Given the description of an element on the screen output the (x, y) to click on. 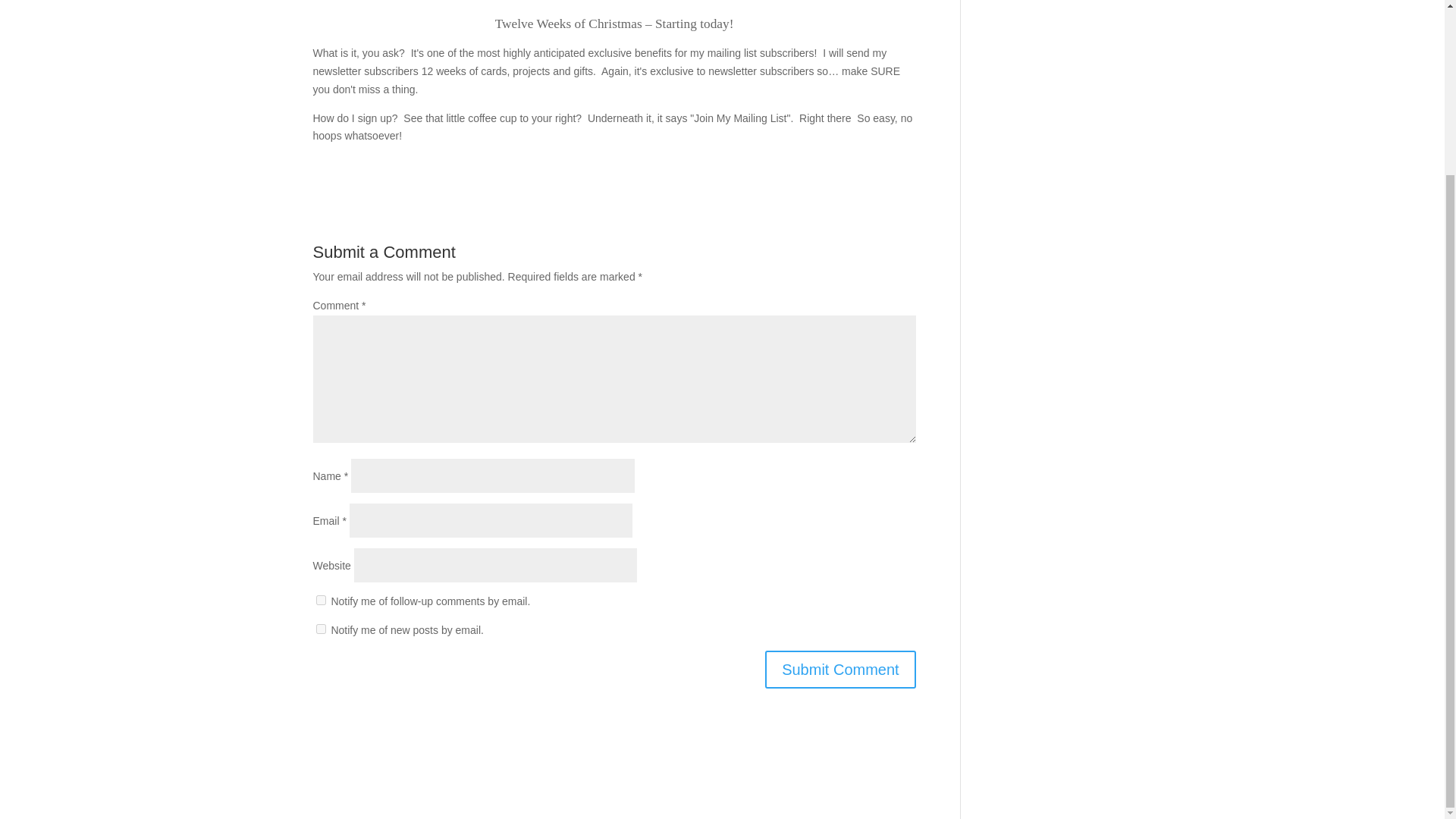
Submit Comment (840, 669)
Submit Comment (840, 669)
subscribe (319, 628)
subscribe (319, 600)
